Given the description of an element on the screen output the (x, y) to click on. 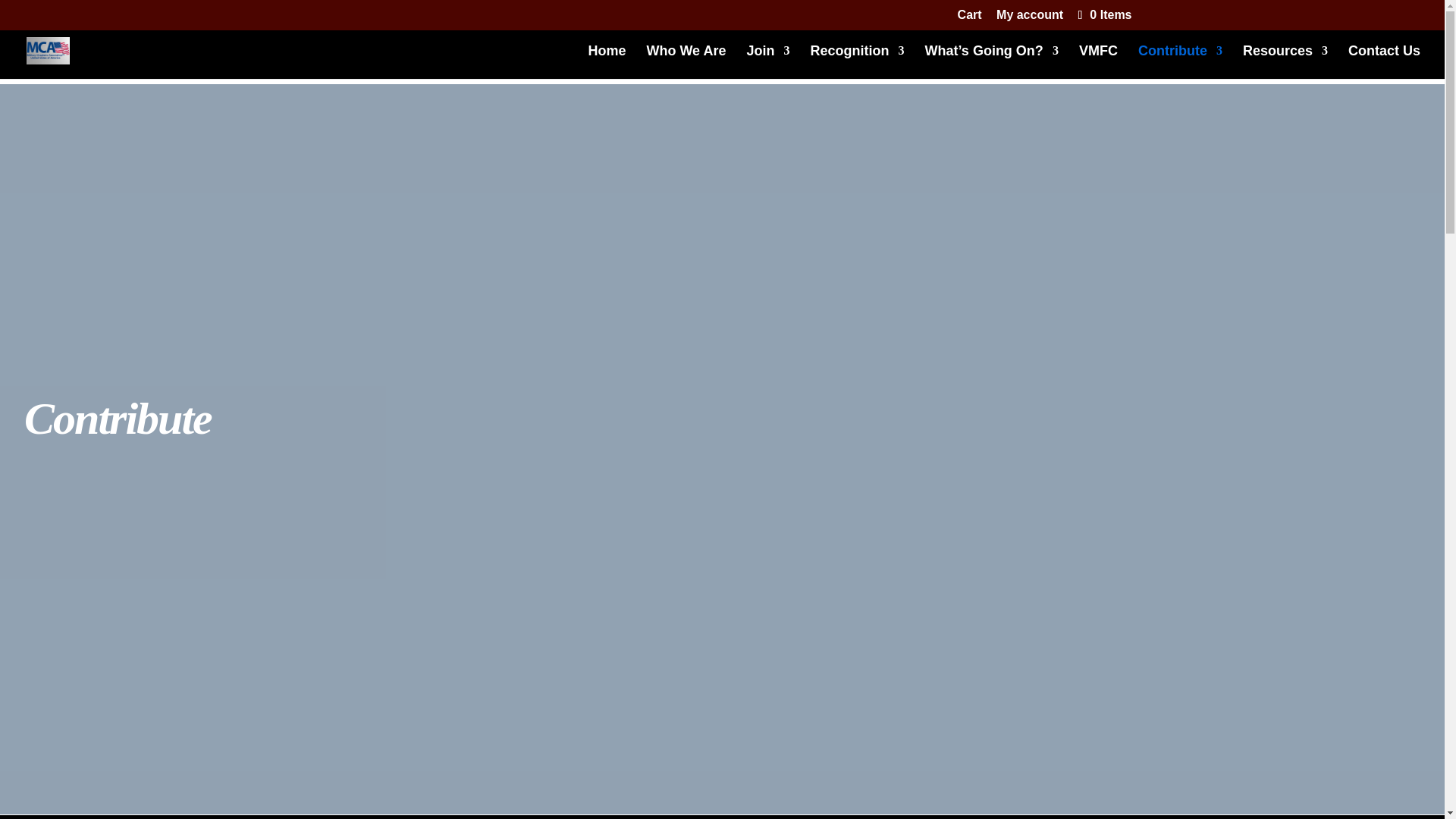
Who We Are (685, 61)
Join (767, 61)
Contribute (1180, 61)
My account (1028, 19)
Home (607, 61)
Cart (969, 19)
0 Items (1102, 14)
VMFC (1098, 61)
Recognition (857, 61)
Resources (1285, 61)
